Given the description of an element on the screen output the (x, y) to click on. 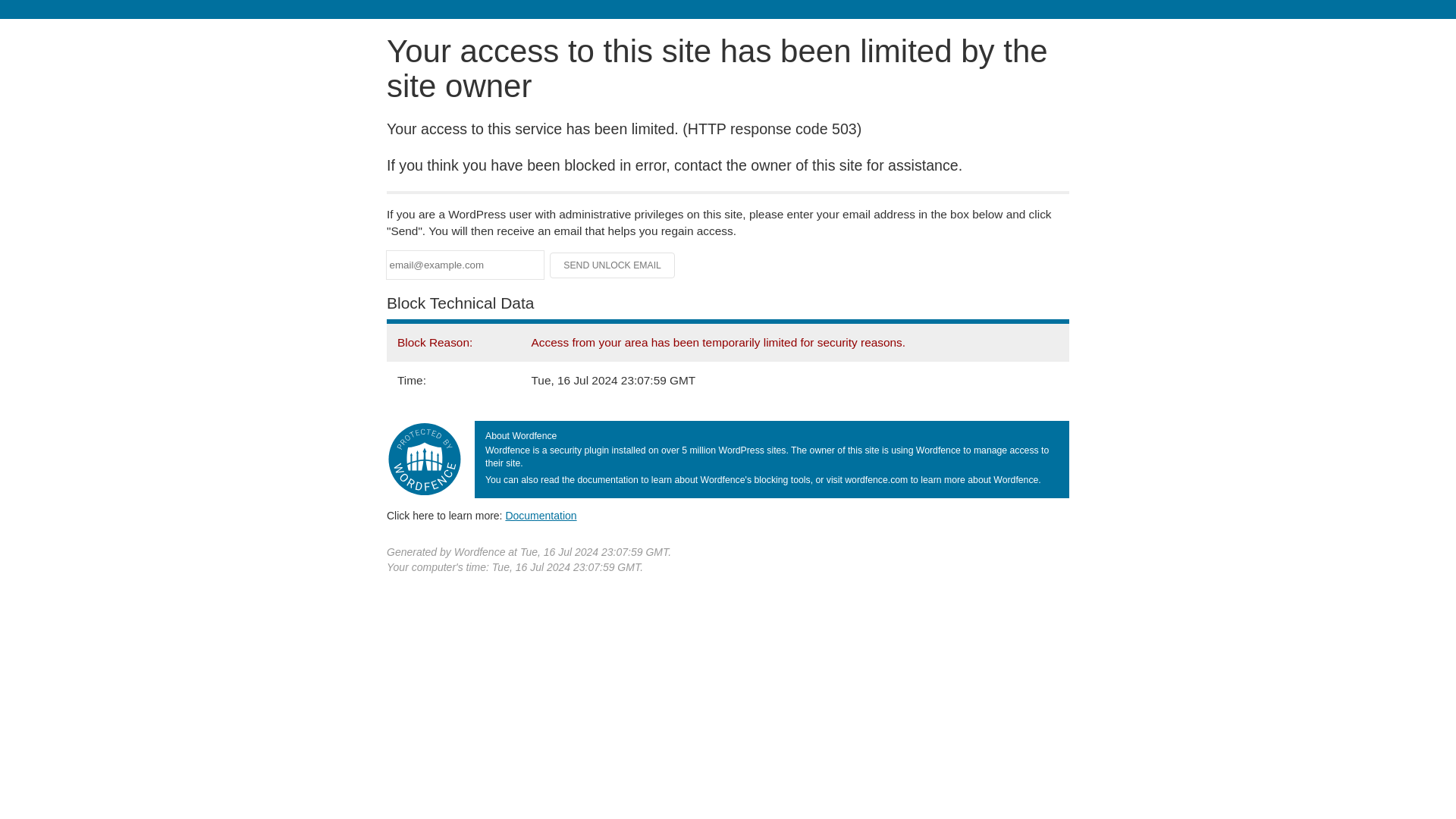
Documentation (540, 515)
Send Unlock Email (612, 265)
Send Unlock Email (612, 265)
